Given the description of an element on the screen output the (x, y) to click on. 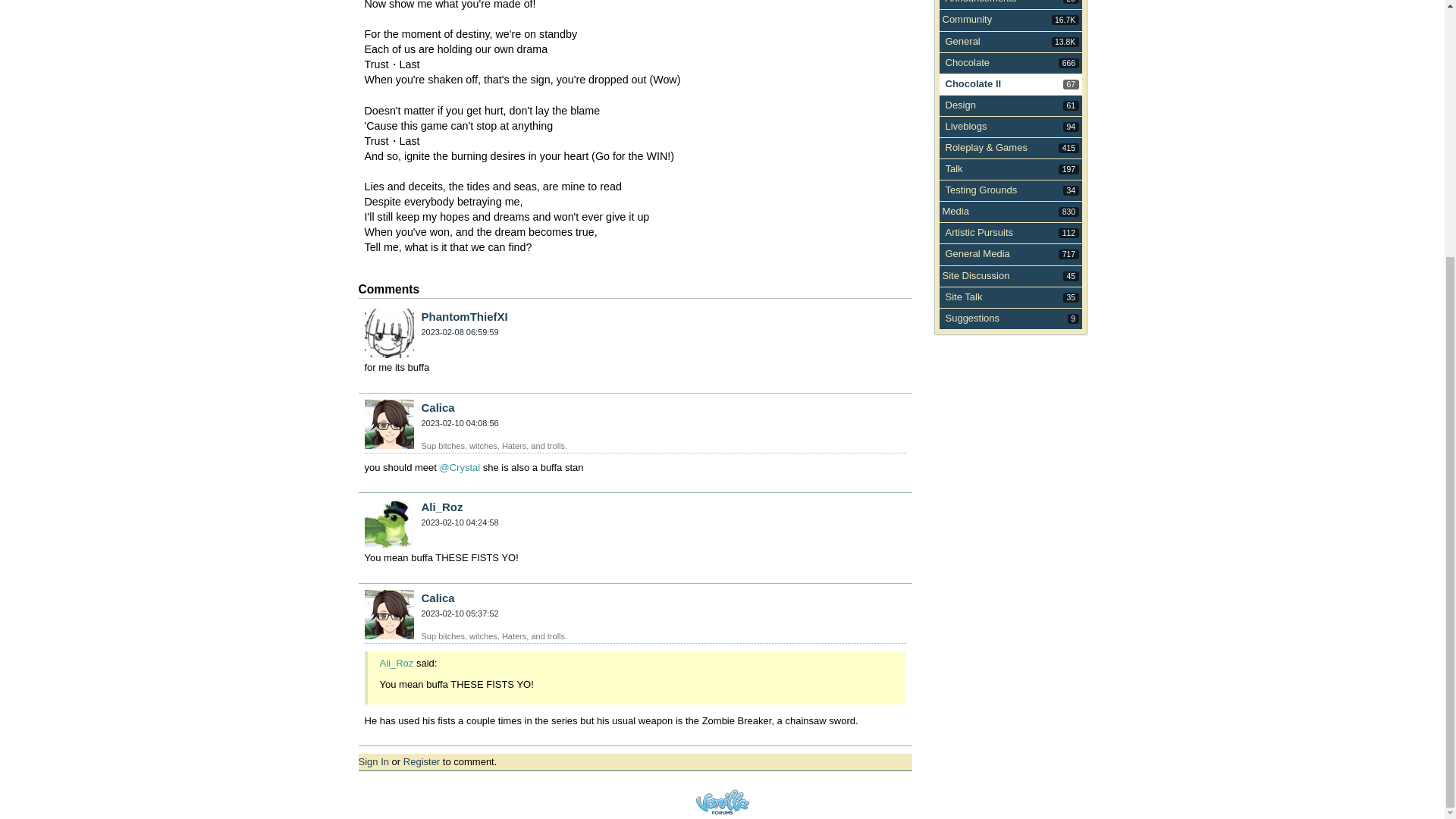
94 discussions (1071, 126)
Calica (438, 597)
830 discussions (1068, 212)
Calica (388, 423)
PhantomThiefXI (465, 316)
PhantomThiefXI (388, 332)
2023-02-10 04:08:56 (966, 19)
197 discussions (460, 422)
Calica (961, 41)
13,768 discussions (1068, 169)
16,654 discussions (438, 407)
2023-02-10 04:24:58 (1064, 40)
